Given the description of an element on the screen output the (x, y) to click on. 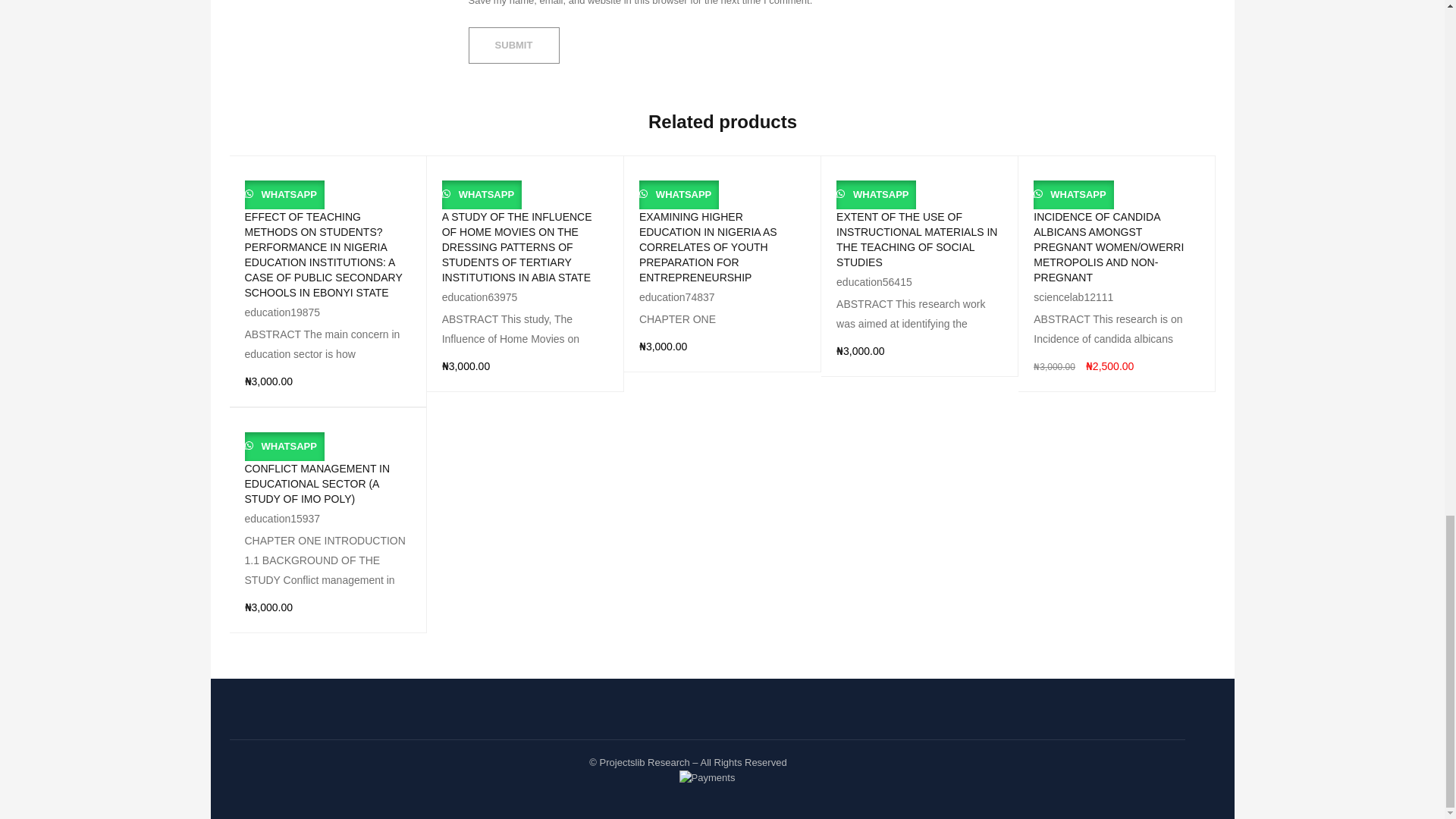
Submit (513, 45)
